Given the description of an element on the screen output the (x, y) to click on. 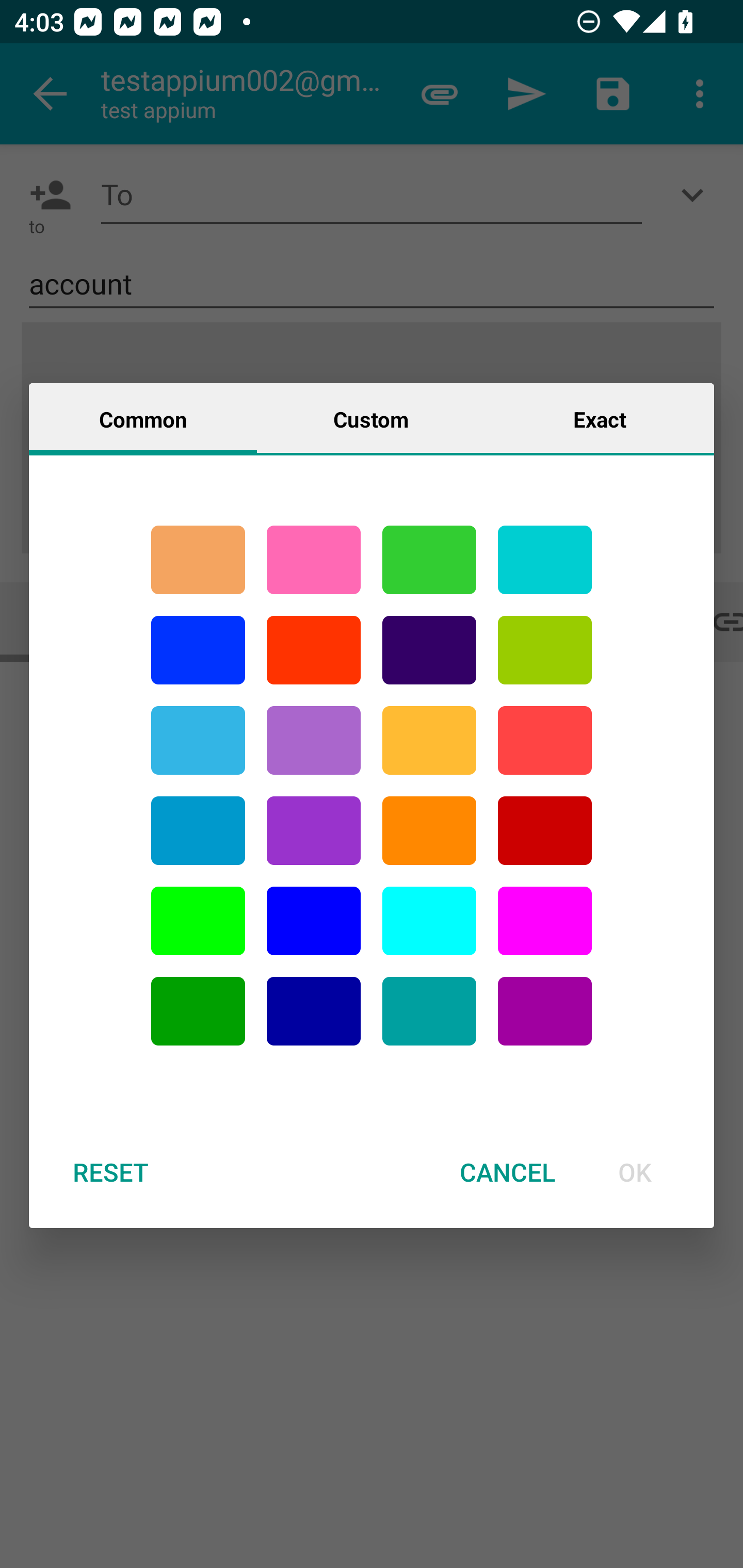
Common (142, 418)
Custom (371, 418)
Exact (599, 418)
Peach (197, 559)
Pink (313, 559)
Green (429, 559)
Cyan (544, 559)
Blue (197, 649)
Red (313, 649)
Dark purple (429, 649)
Light green (544, 649)
Cyan (197, 739)
Purple (313, 739)
Light orange (429, 739)
Light red (544, 739)
Dark cyan (197, 830)
Purple (313, 830)
Orange (429, 830)
Dark red (544, 830)
Light green (197, 920)
Blue (313, 920)
Light cyan (429, 920)
Light purple (544, 920)
Dark green (197, 1010)
Dark blue (313, 1010)
Cyan (429, 1010)
Purple (544, 1010)
RESET (110, 1171)
CANCEL (507, 1171)
OK (634, 1171)
